Given the description of an element on the screen output the (x, y) to click on. 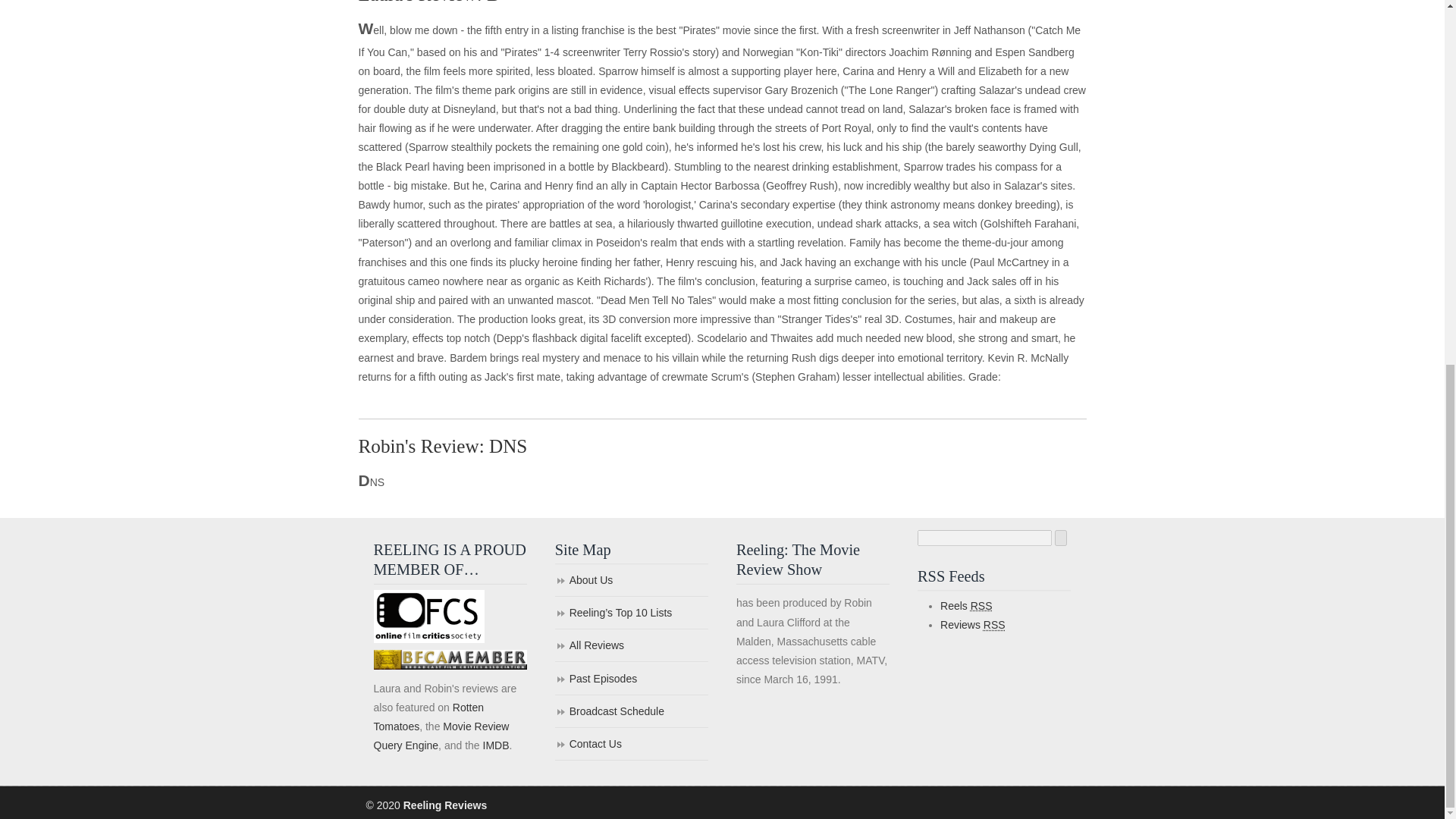
The latest Episodes in RSS (965, 605)
All Reviews (630, 645)
Contact Us (630, 744)
Really Simple Syndication (981, 605)
Reels RSS (965, 605)
Past Episodes (630, 679)
Movie Review Query Engine (440, 735)
Really Simple Syndication (995, 624)
The latest Reviews in RSS (973, 624)
Broadcast Schedule (630, 712)
